Given the description of an element on the screen output the (x, y) to click on. 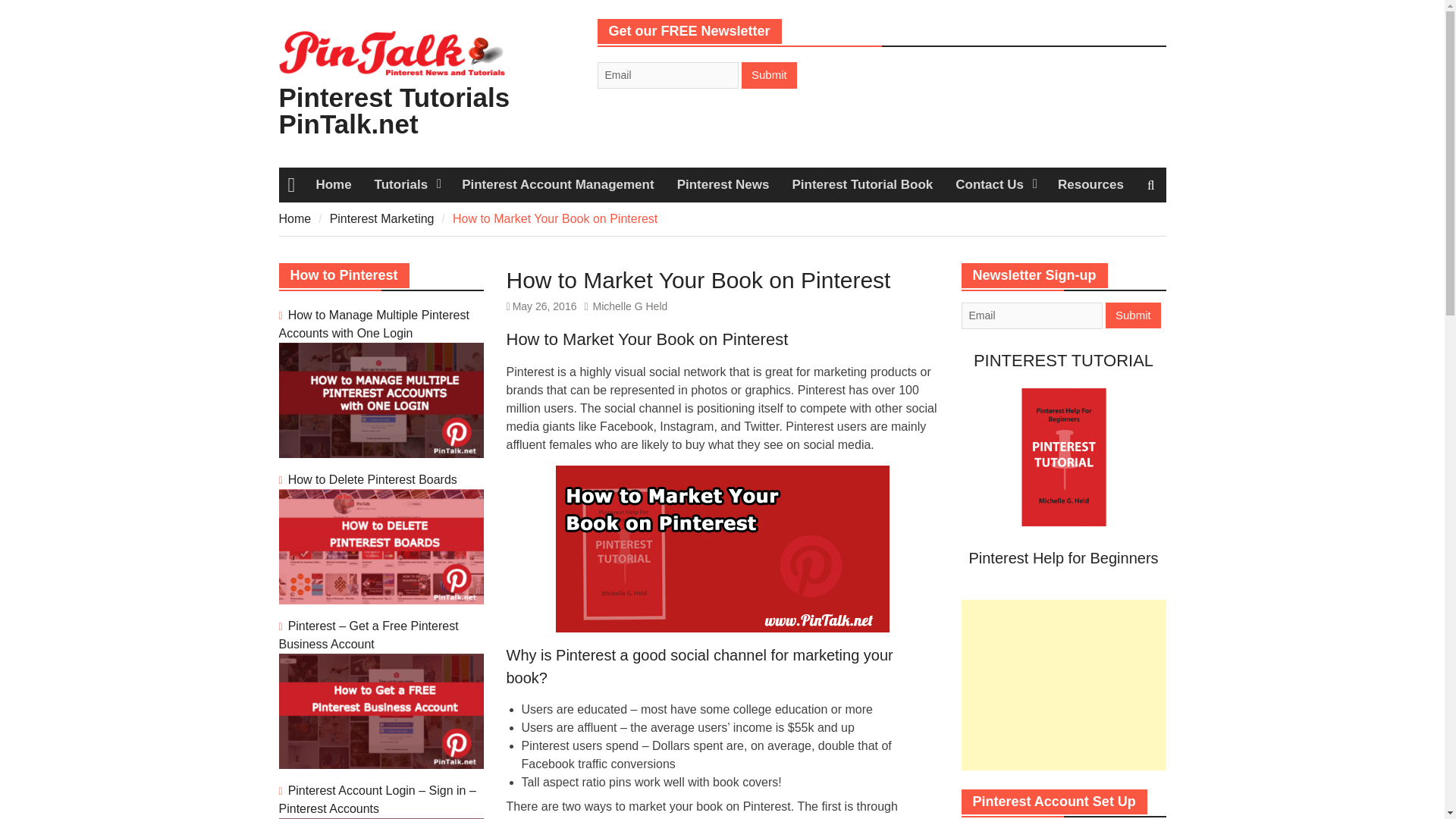
Pinterest News (722, 184)
Home (333, 184)
May 26, 2016 (544, 306)
Resources (1090, 184)
Submit (768, 75)
Submit (1132, 315)
Resources (1090, 184)
Michelle G Held (629, 306)
Email (667, 75)
Pinterest Tutorials PinTalk.net (395, 110)
Submit (1132, 315)
Pinterest Tutorials (406, 184)
Pinterest Marketing (381, 218)
pinterest tutorial book (1062, 525)
Contact Us (994, 184)
